Given the description of an element on the screen output the (x, y) to click on. 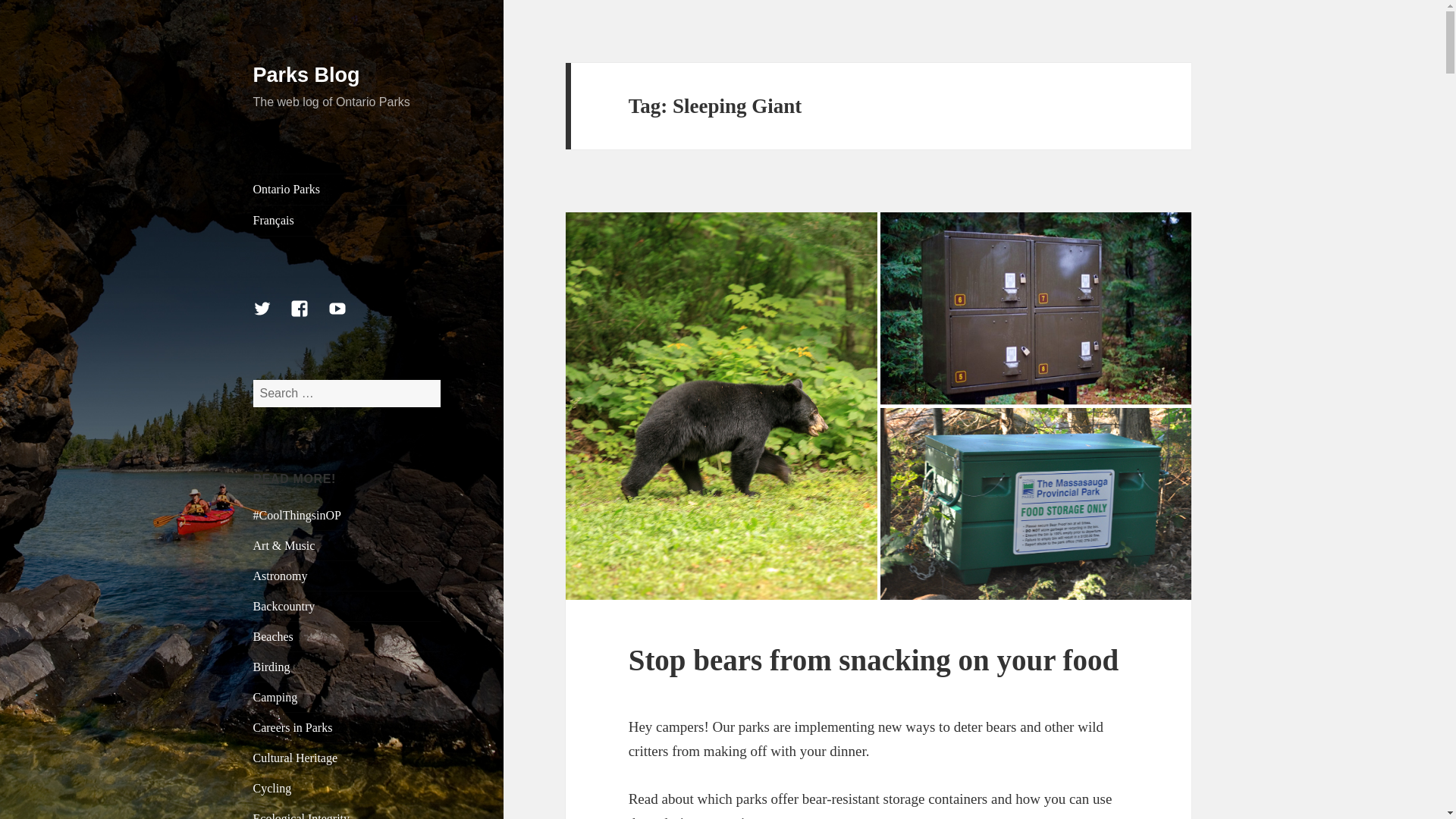
YouTube Channel (347, 317)
Beaches (273, 635)
Ontario Parks (347, 189)
Ecological Integrity (301, 815)
Camping (275, 697)
Parks Blog (306, 74)
Backcountry (284, 605)
Twitter (271, 317)
Astronomy (280, 575)
Careers in Parks (293, 727)
Cultural Heritage (295, 757)
Cycling (272, 788)
Facebook Page (307, 317)
